Given the description of an element on the screen output the (x, y) to click on. 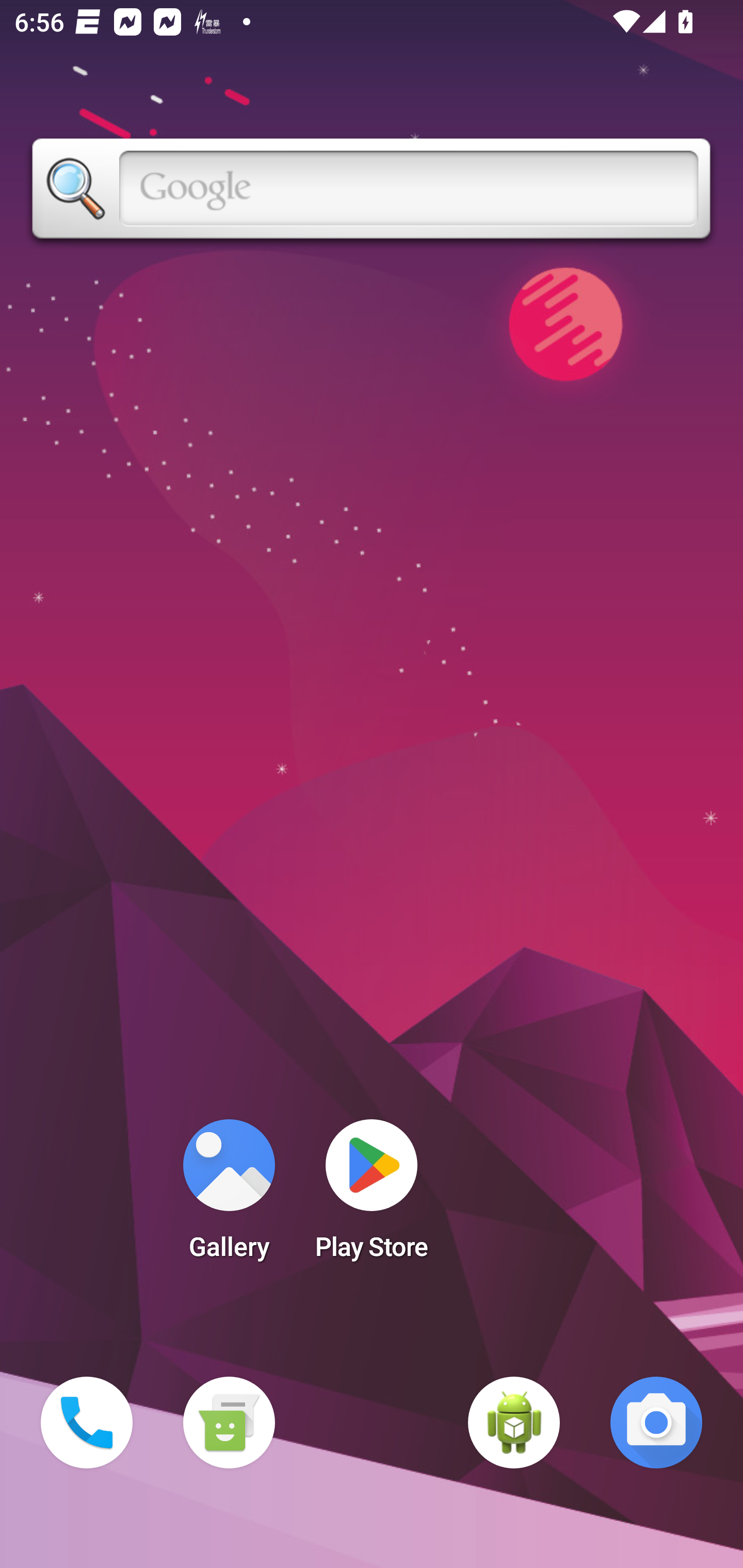
Gallery (228, 1195)
Play Store (371, 1195)
Phone (86, 1422)
Messaging (228, 1422)
WebView Browser Tester (513, 1422)
Camera (656, 1422)
